Given the description of an element on the screen output the (x, y) to click on. 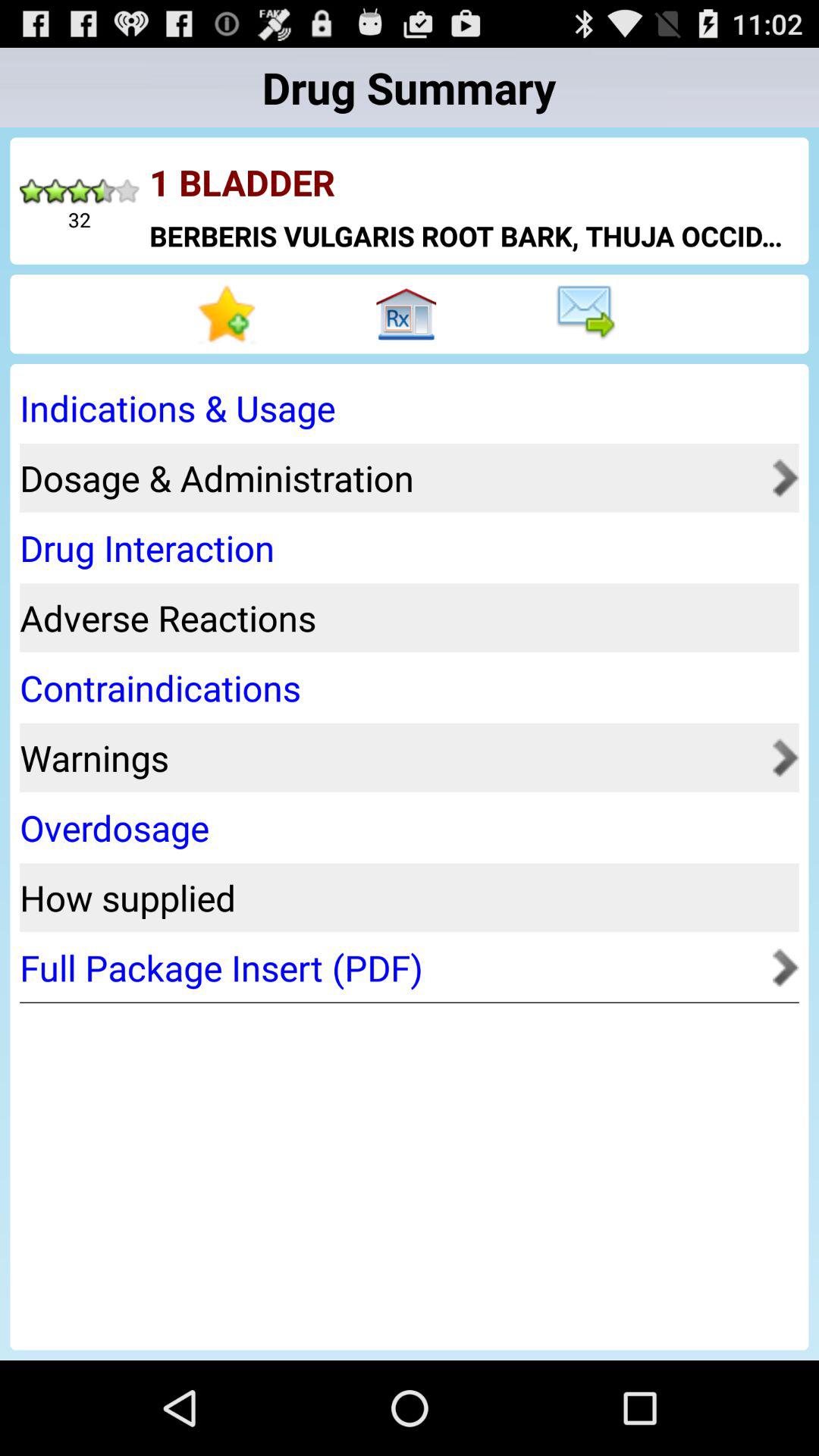
send (589, 314)
